Given the description of an element on the screen output the (x, y) to click on. 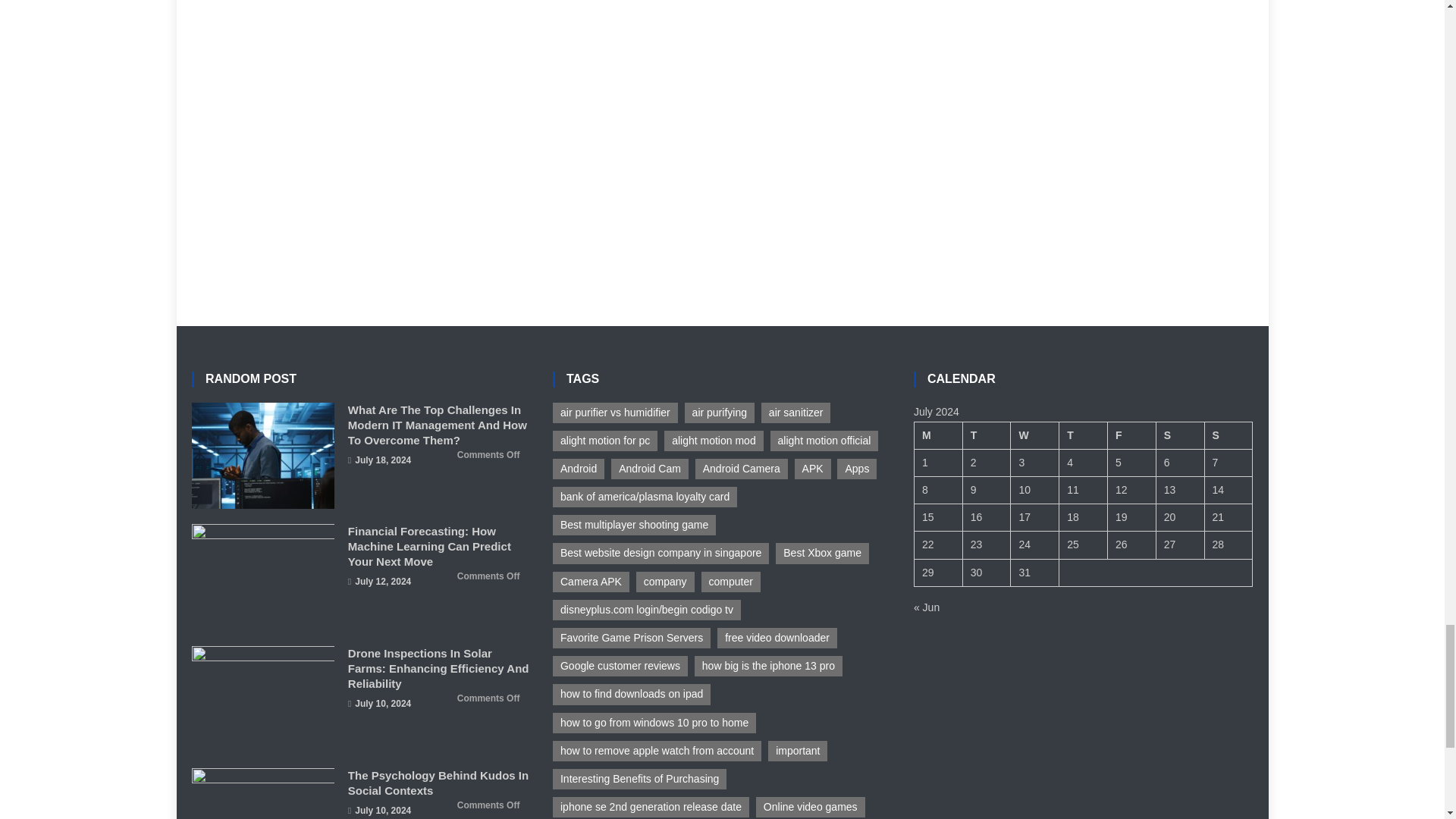
Wednesday (1034, 434)
Tuesday (986, 434)
Thursday (1083, 434)
Saturday (1180, 434)
Friday (1131, 434)
Sunday (1228, 434)
Monday (938, 434)
